Given the description of an element on the screen output the (x, y) to click on. 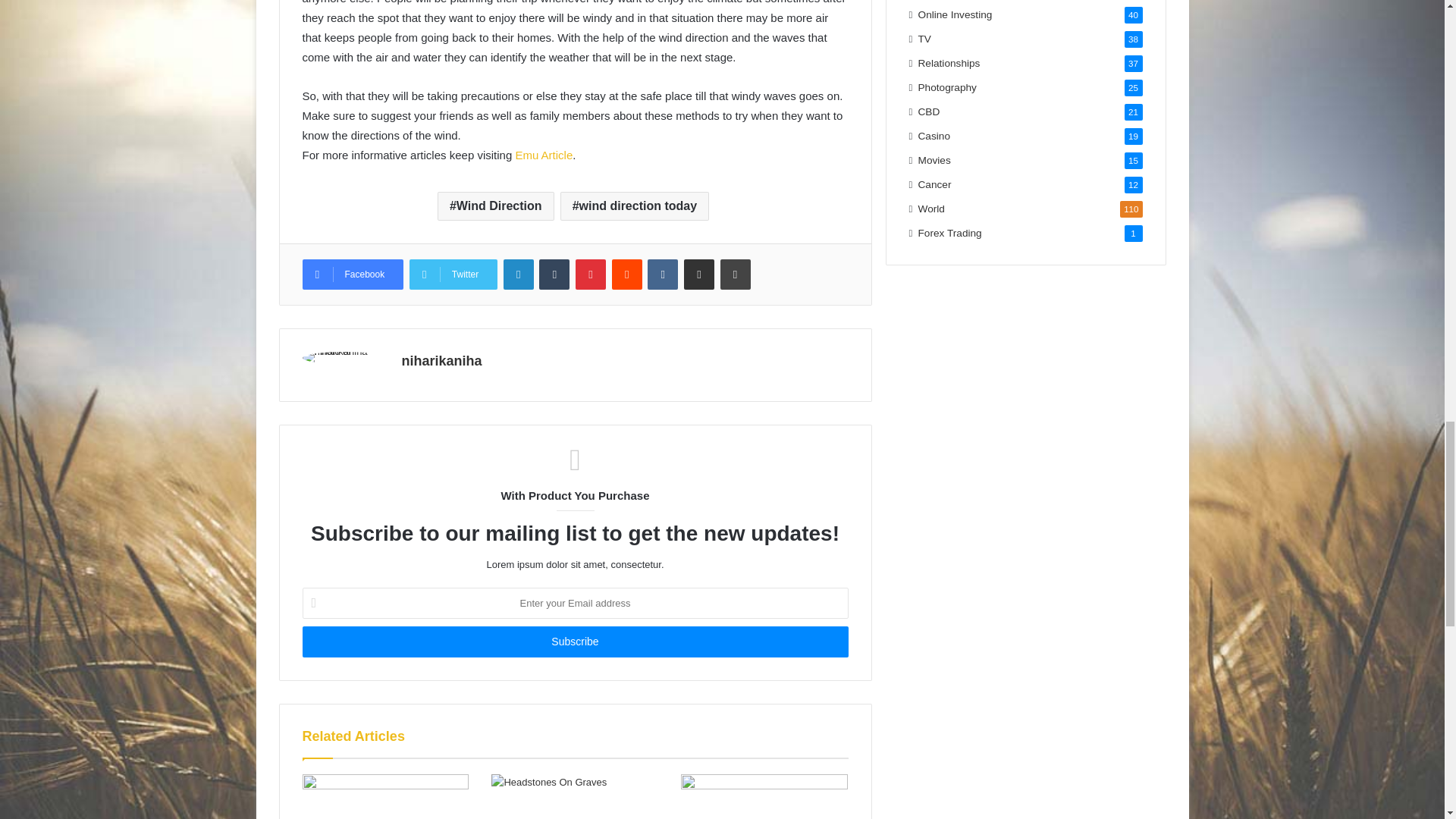
Twitter (453, 274)
Twitter (453, 274)
Reddit (626, 274)
Tumblr (553, 274)
Emu Article (543, 154)
VKontakte (662, 274)
Reddit (626, 274)
Facebook (352, 274)
Tumblr (553, 274)
Wind Direction (496, 205)
